Given the description of an element on the screen output the (x, y) to click on. 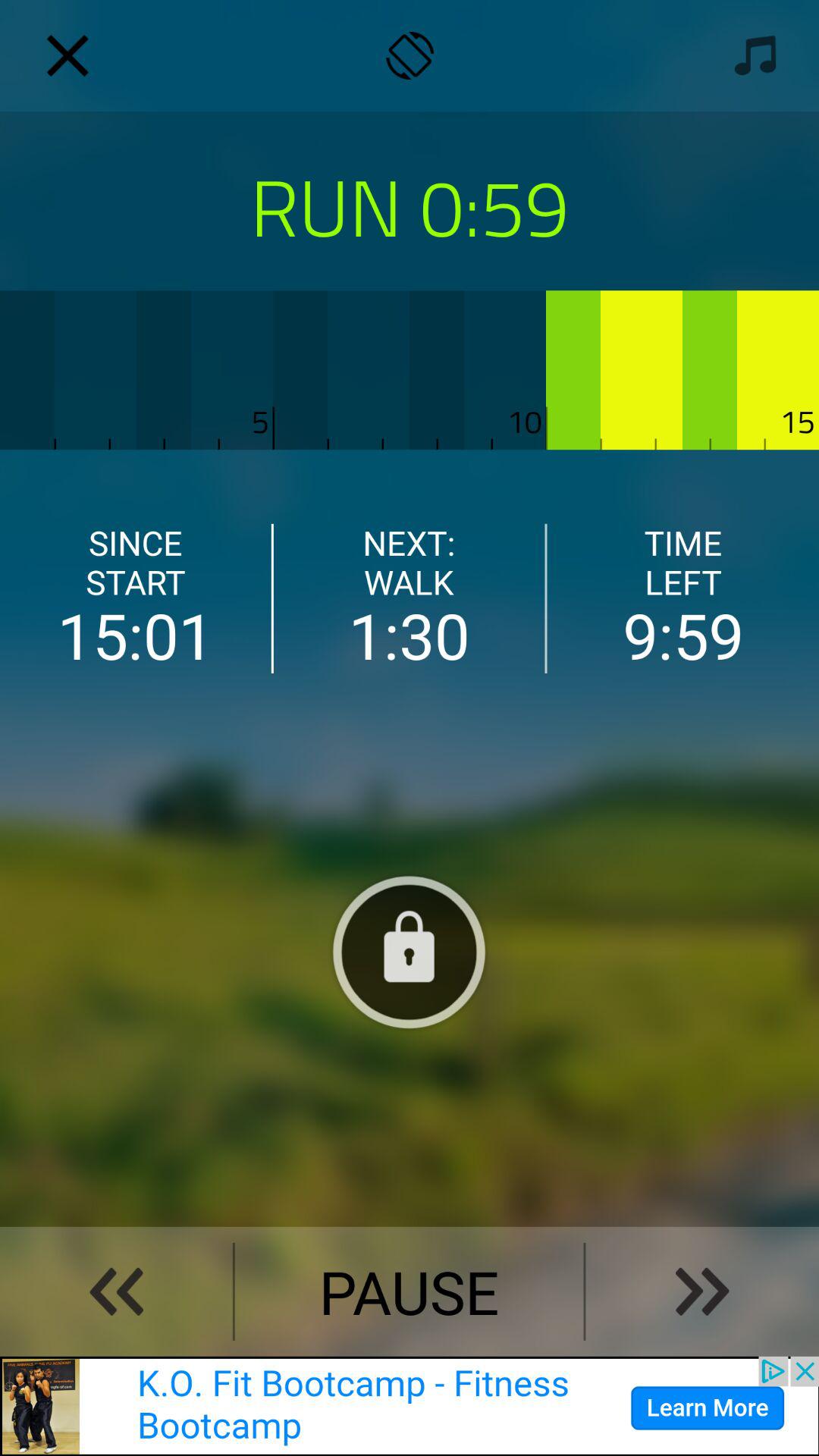
turn screen (409, 55)
